Given the description of an element on the screen output the (x, y) to click on. 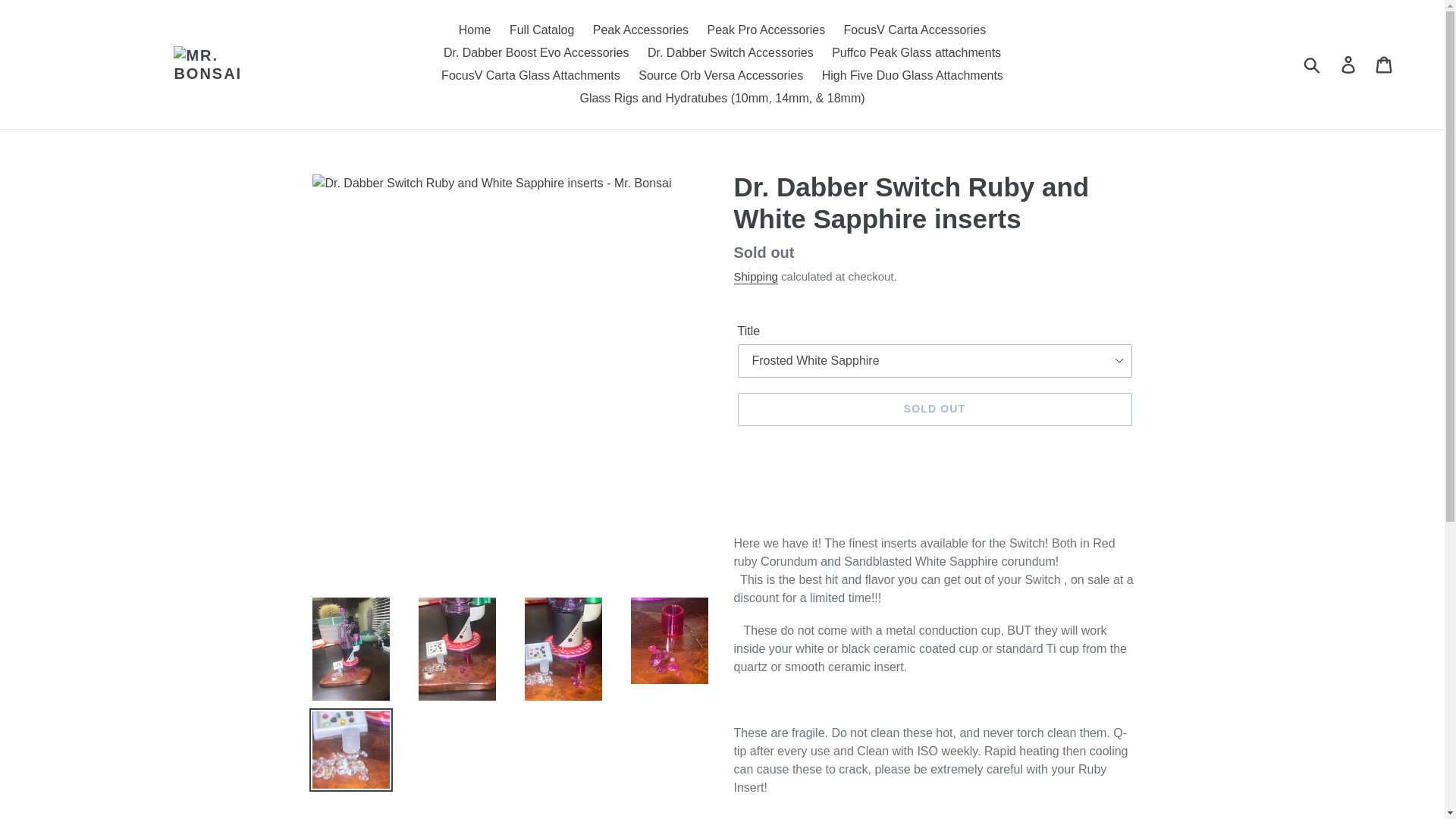
FocusV Carta Accessories (914, 29)
Peak Accessories (640, 29)
Dr. Dabber Boost Evo Accessories (536, 52)
Cart (1385, 64)
Submit (1313, 64)
Source Orb Versa Accessories (720, 75)
Log in (1349, 64)
High Five Duo Glass Attachments (911, 75)
Peak Pro Accessories (765, 29)
FocusV Carta Glass Attachments (530, 75)
Home (475, 29)
Dr. Dabber Switch Accessories (730, 52)
Full Catalog (541, 29)
Puffco Peak Glass attachments (916, 52)
